Given the description of an element on the screen output the (x, y) to click on. 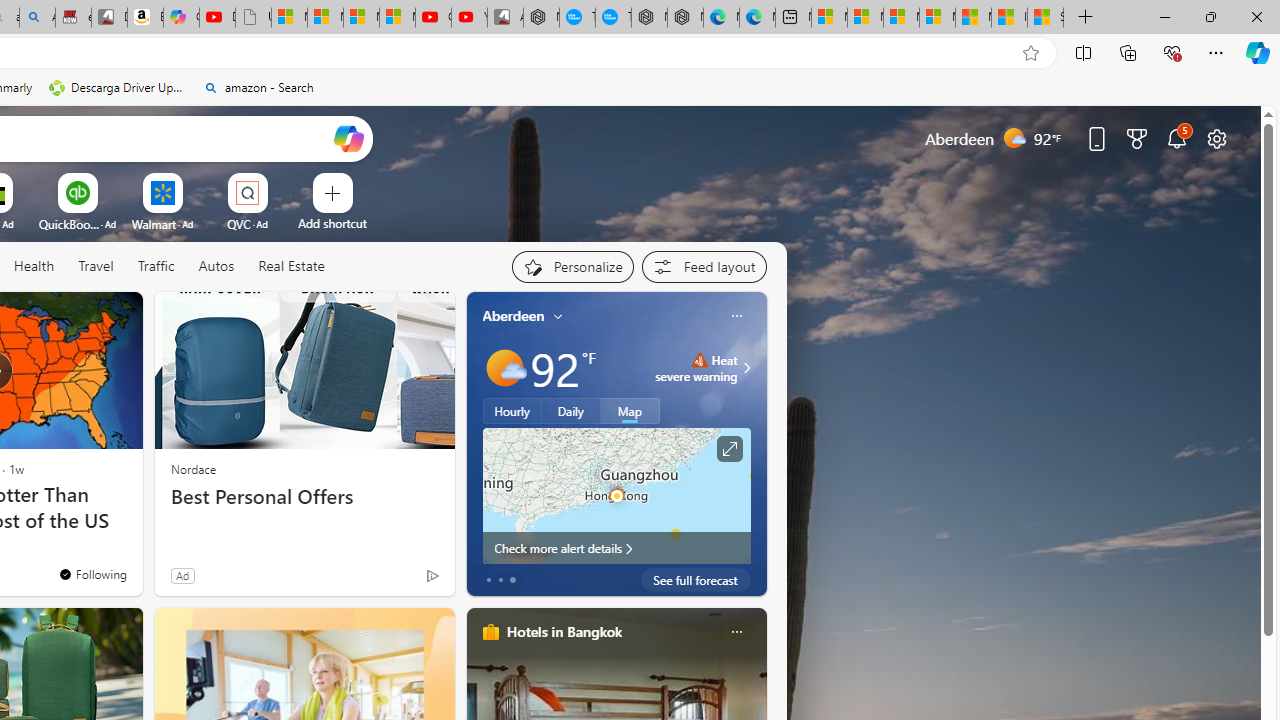
More options (736, 631)
Open Copilot (347, 138)
Autos (216, 267)
Day 1: Arriving in Yemen (surreal to be here) - YouTube (217, 17)
Real Estate (290, 267)
Nordace - My Account (541, 17)
Amazon Echo Dot PNG - Search Images (37, 17)
See full forecast (695, 579)
Nordace - Nordace has arrived Hong Kong (685, 17)
Split screen (1083, 52)
Copilot (Ctrl+Shift+.) (1258, 52)
Travel (95, 265)
